Given the description of an element on the screen output the (x, y) to click on. 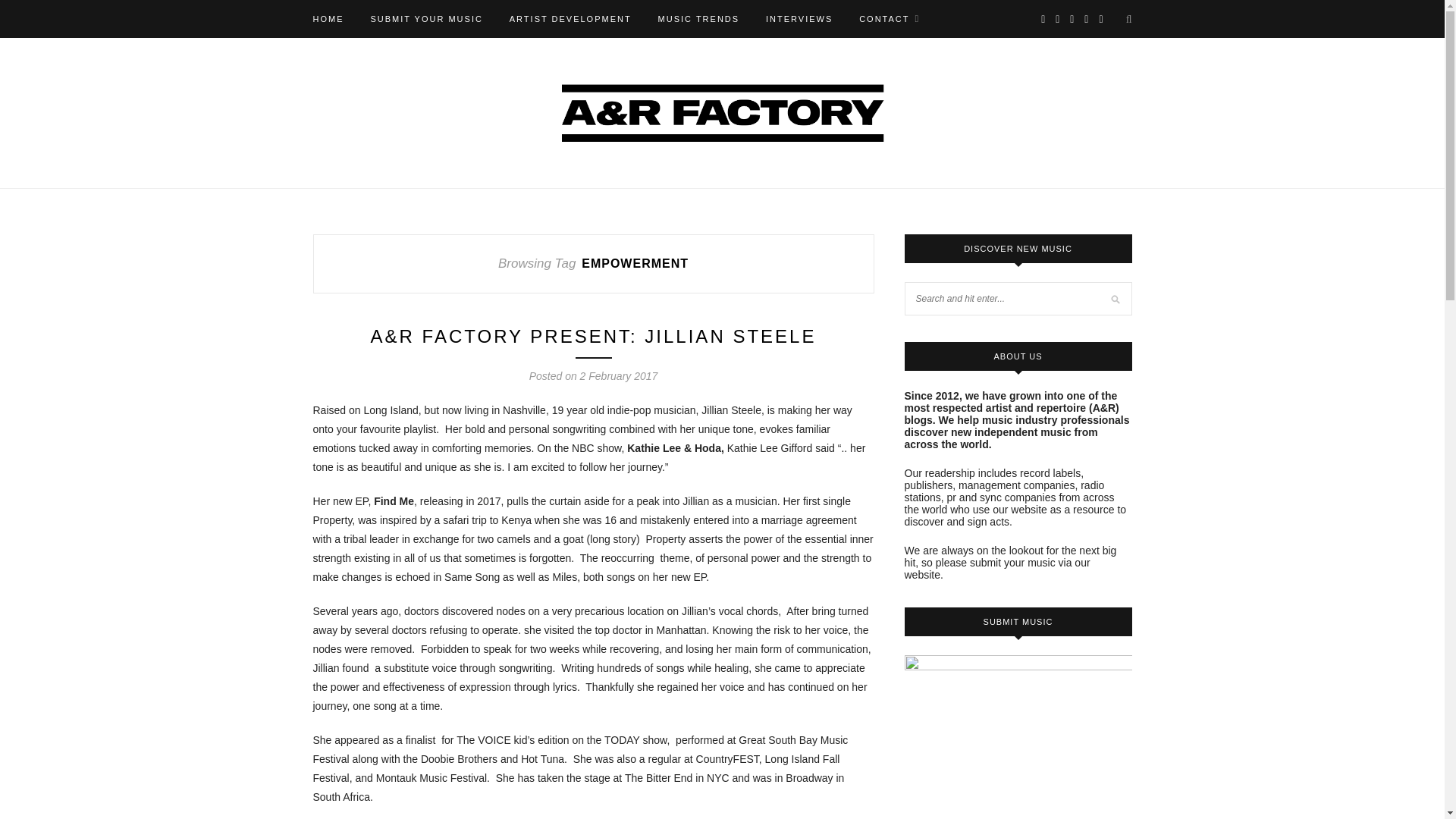
INTERVIEWS (798, 18)
CONTACT (889, 18)
ARTIST DEVELOPMENT (570, 18)
SUBMIT YOUR MUSIC (426, 18)
MUSIC TRENDS (698, 18)
